Given the description of an element on the screen output the (x, y) to click on. 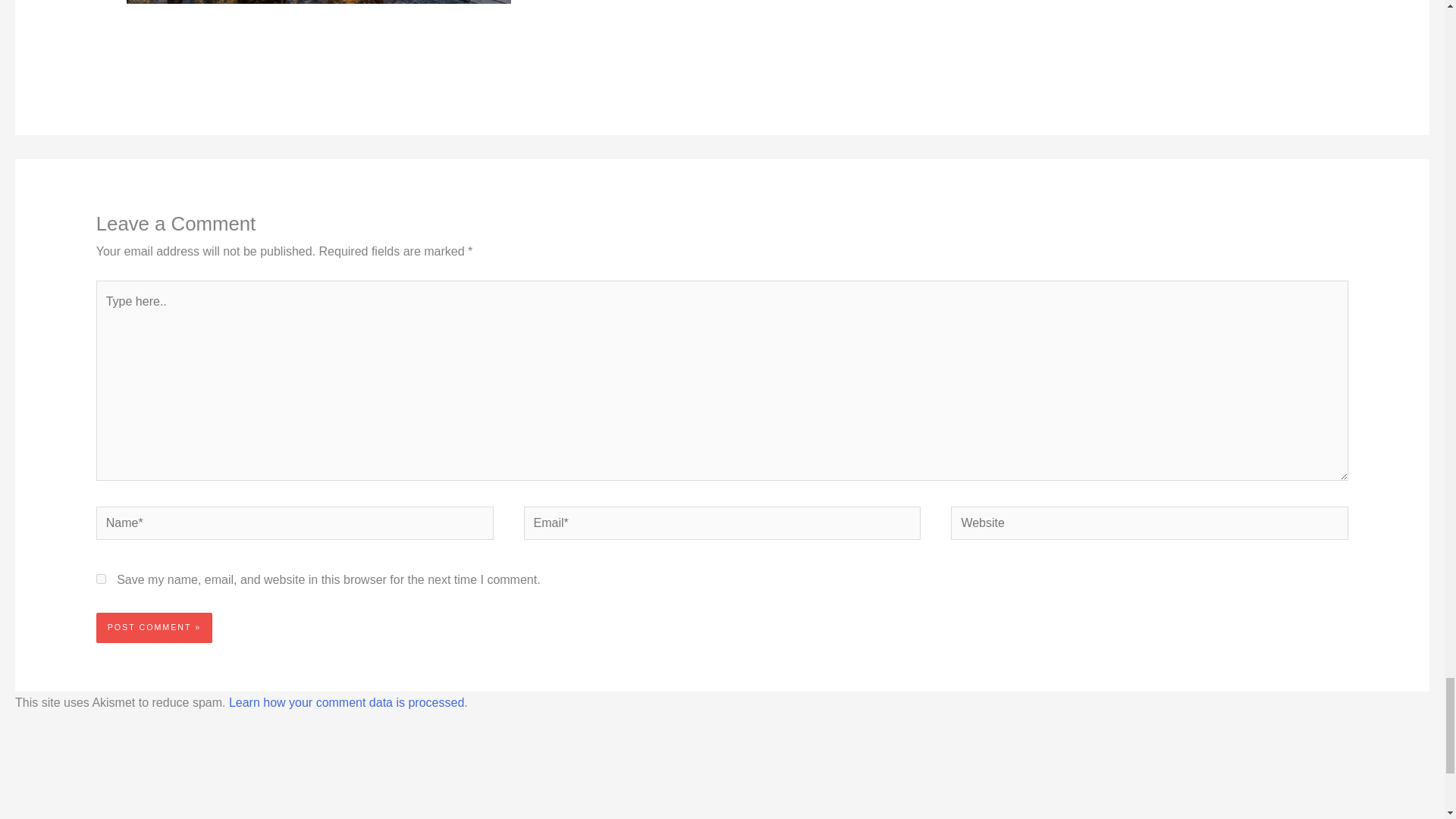
yes (101, 578)
